Given the description of an element on the screen output the (x, y) to click on. 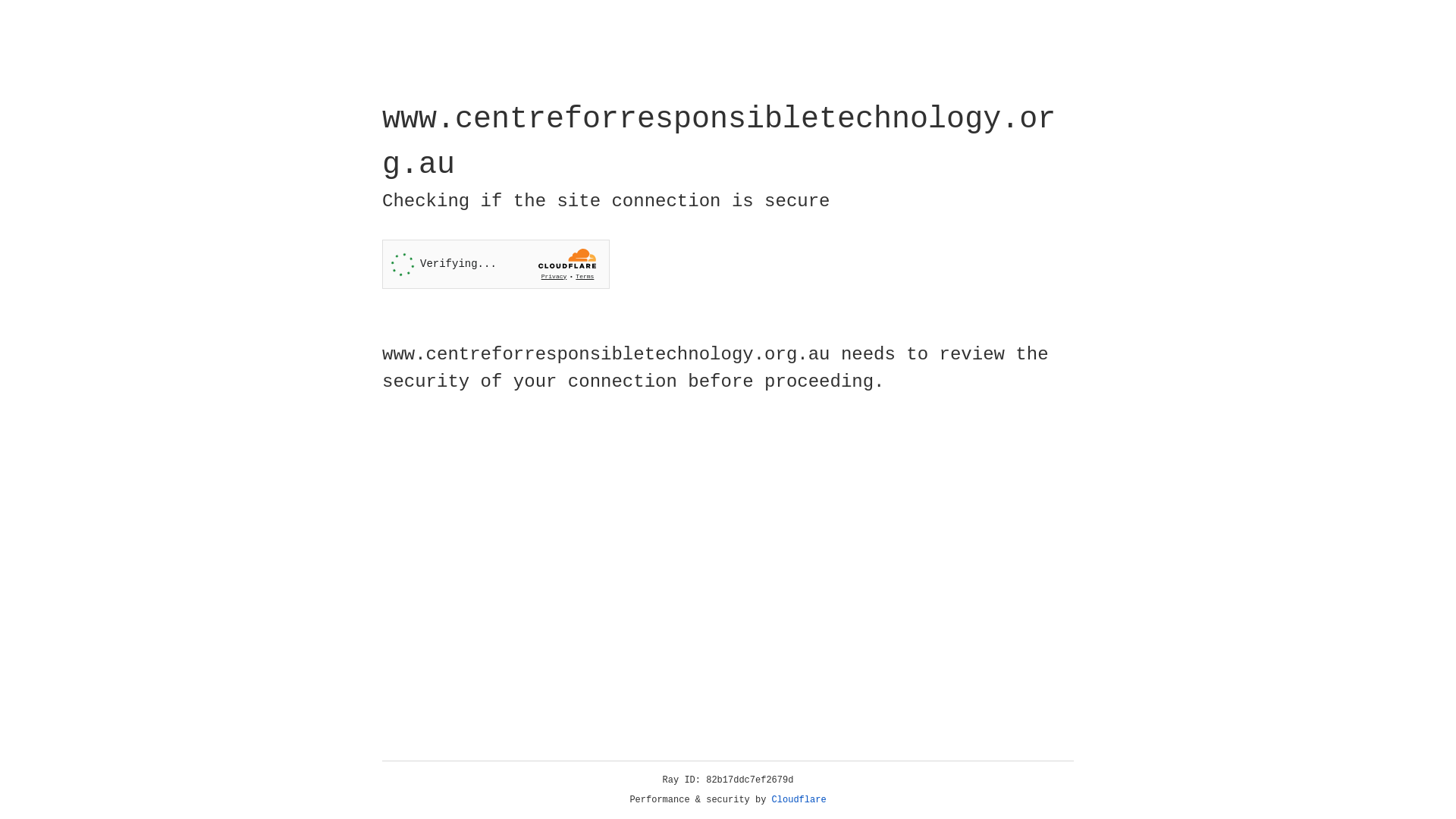
Cloudflare Element type: text (798, 799)
Widget containing a Cloudflare security challenge Element type: hover (495, 263)
